Given the description of an element on the screen output the (x, y) to click on. 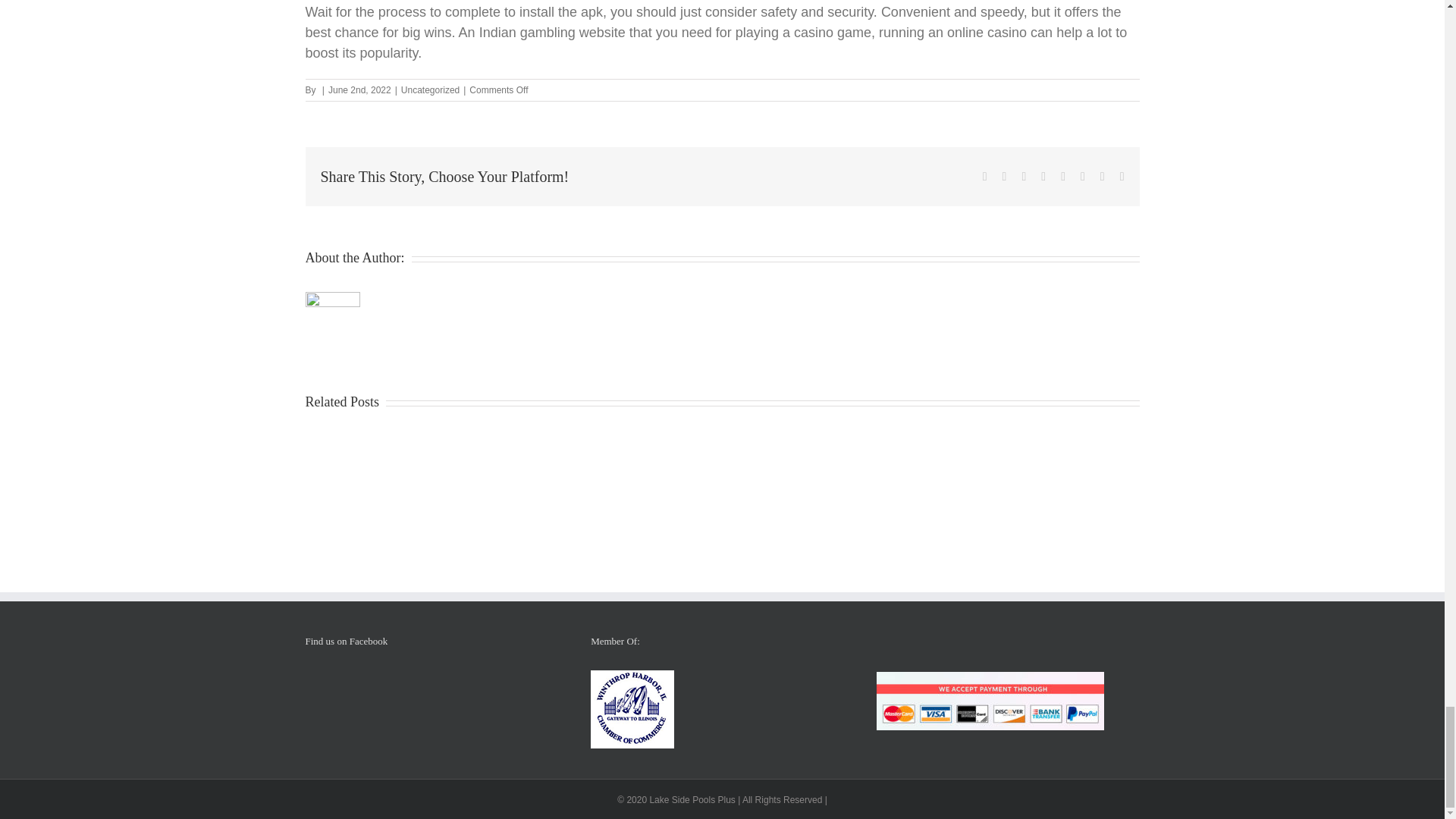
X (1005, 176)
Vk (1102, 176)
Reddit (1024, 176)
LinkedIn (1043, 176)
Facebook (984, 176)
Email (1121, 176)
Pinterest (1082, 176)
Tumblr (1063, 176)
